Given the description of an element on the screen output the (x, y) to click on. 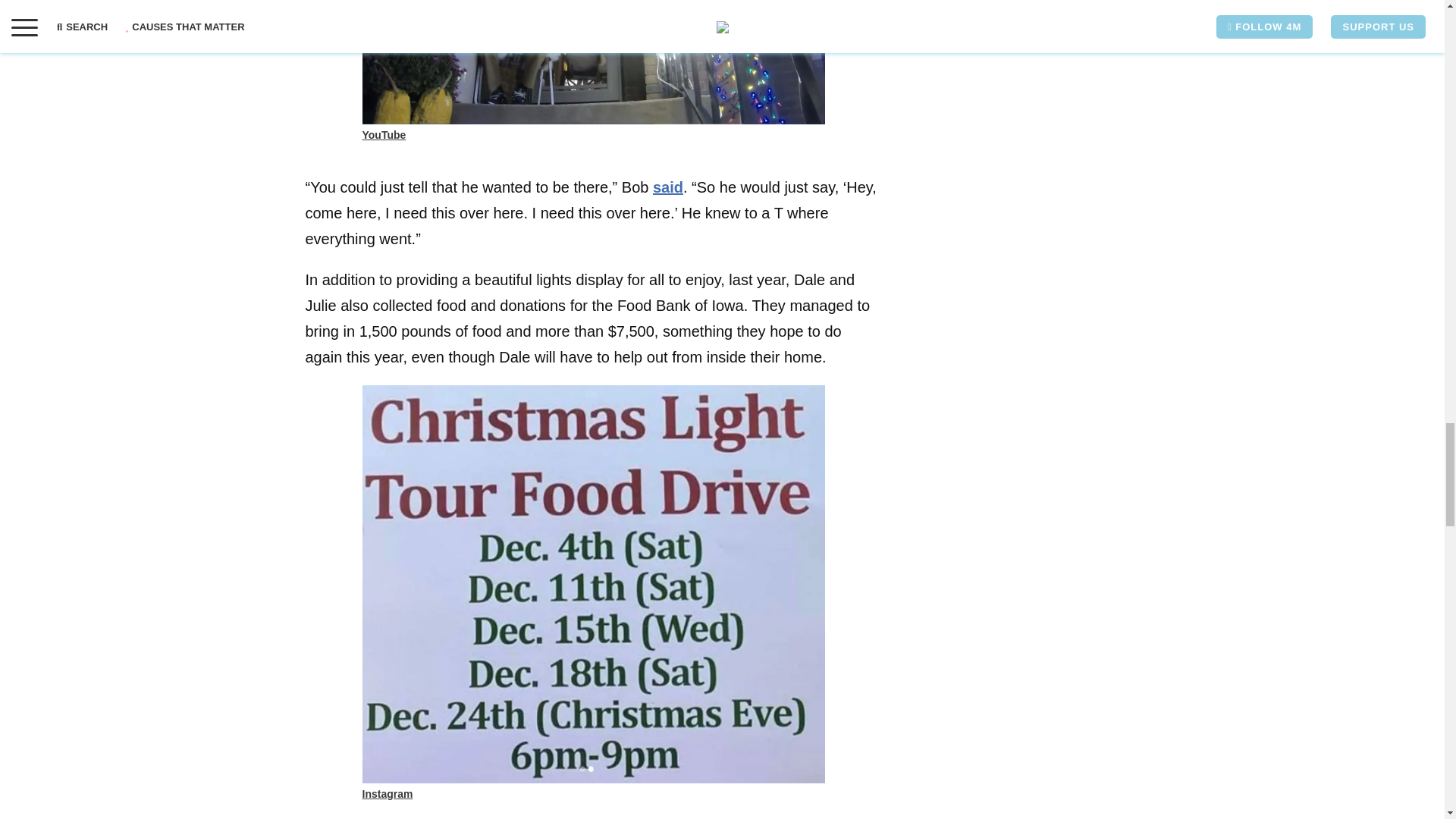
said (667, 187)
Instagram (387, 793)
YouTube (384, 134)
